Given the description of an element on the screen output the (x, y) to click on. 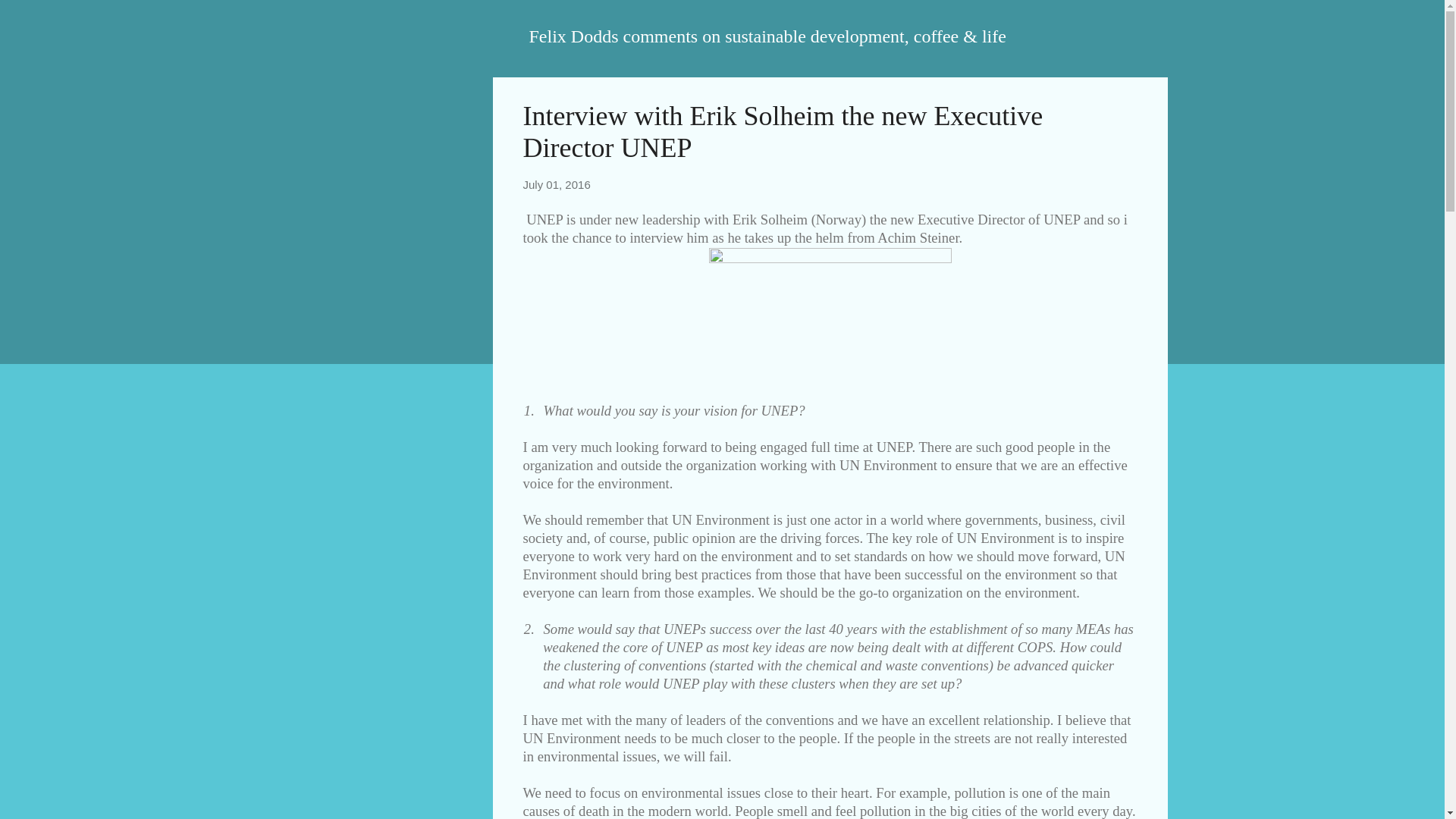
permanent link (556, 184)
Search (29, 18)
July 01, 2016 (556, 184)
